Given the description of an element on the screen output the (x, y) to click on. 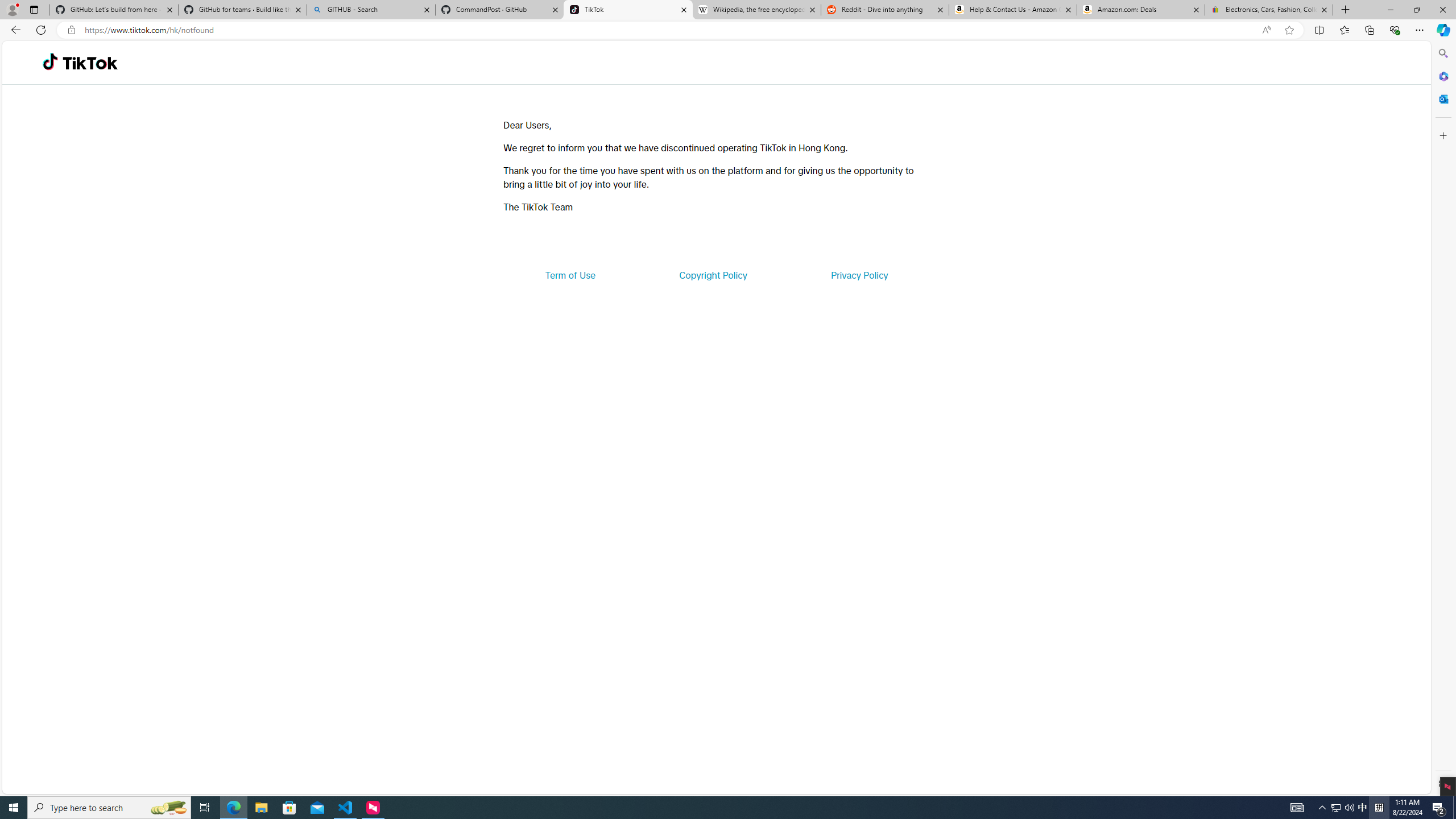
TikTok (628, 9)
Wikipedia, the free encyclopedia (756, 9)
Term of Use (569, 274)
